Given the description of an element on the screen output the (x, y) to click on. 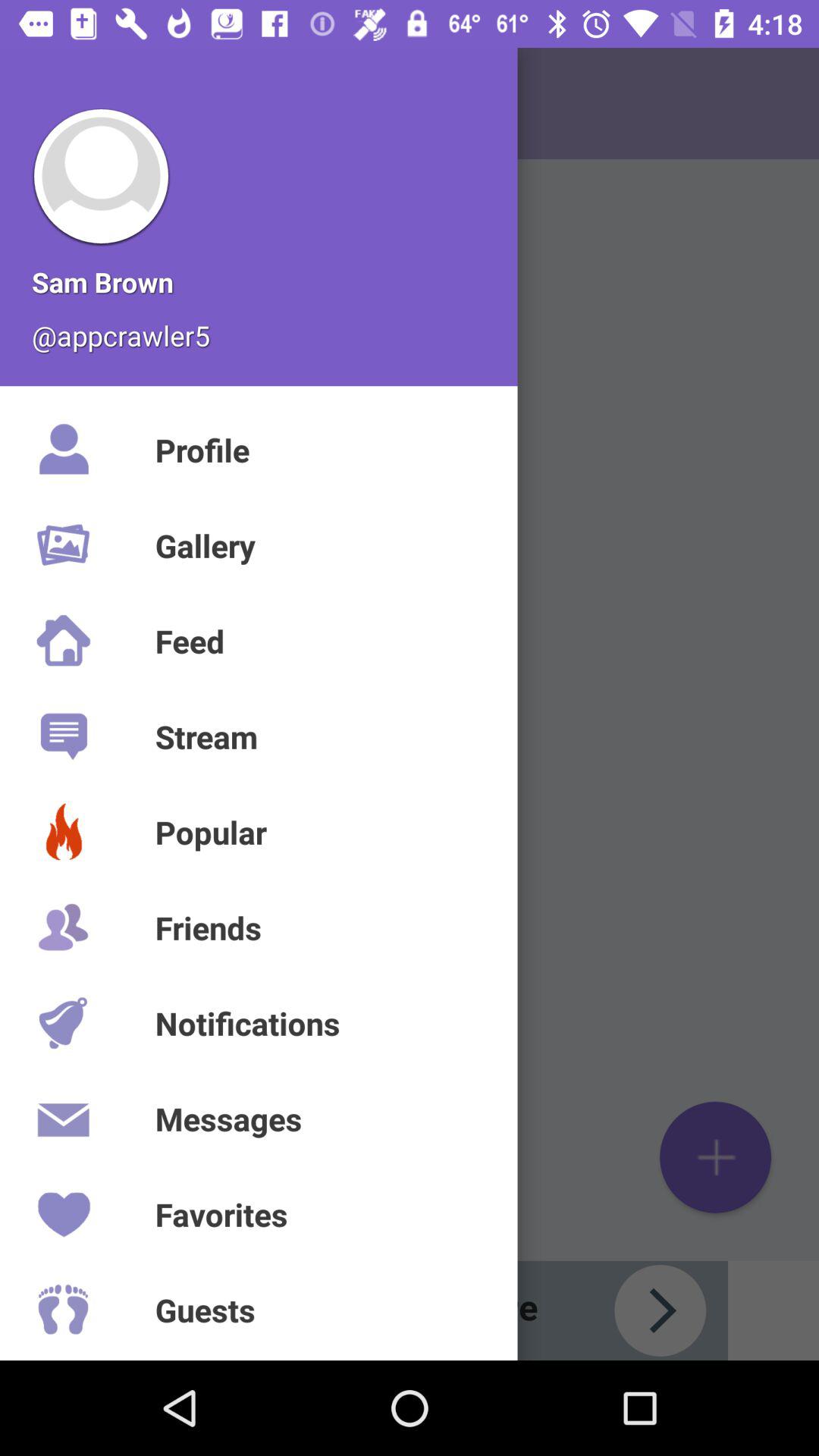
click on home icon which is left to the text feed (63, 640)
